Given the description of an element on the screen output the (x, y) to click on. 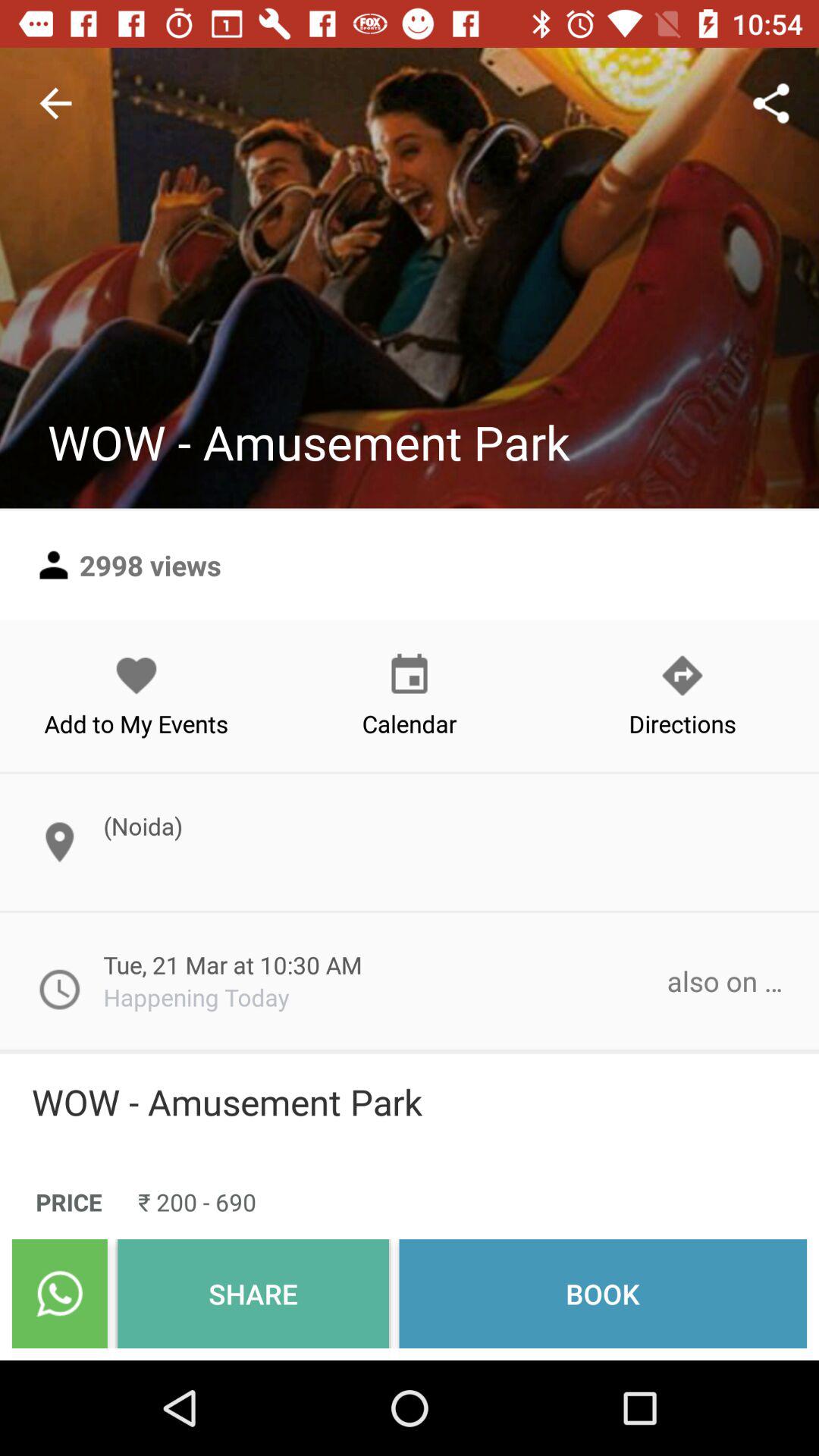
tap icon next to the tue 21 mar (725, 980)
